Given the description of an element on the screen output the (x, y) to click on. 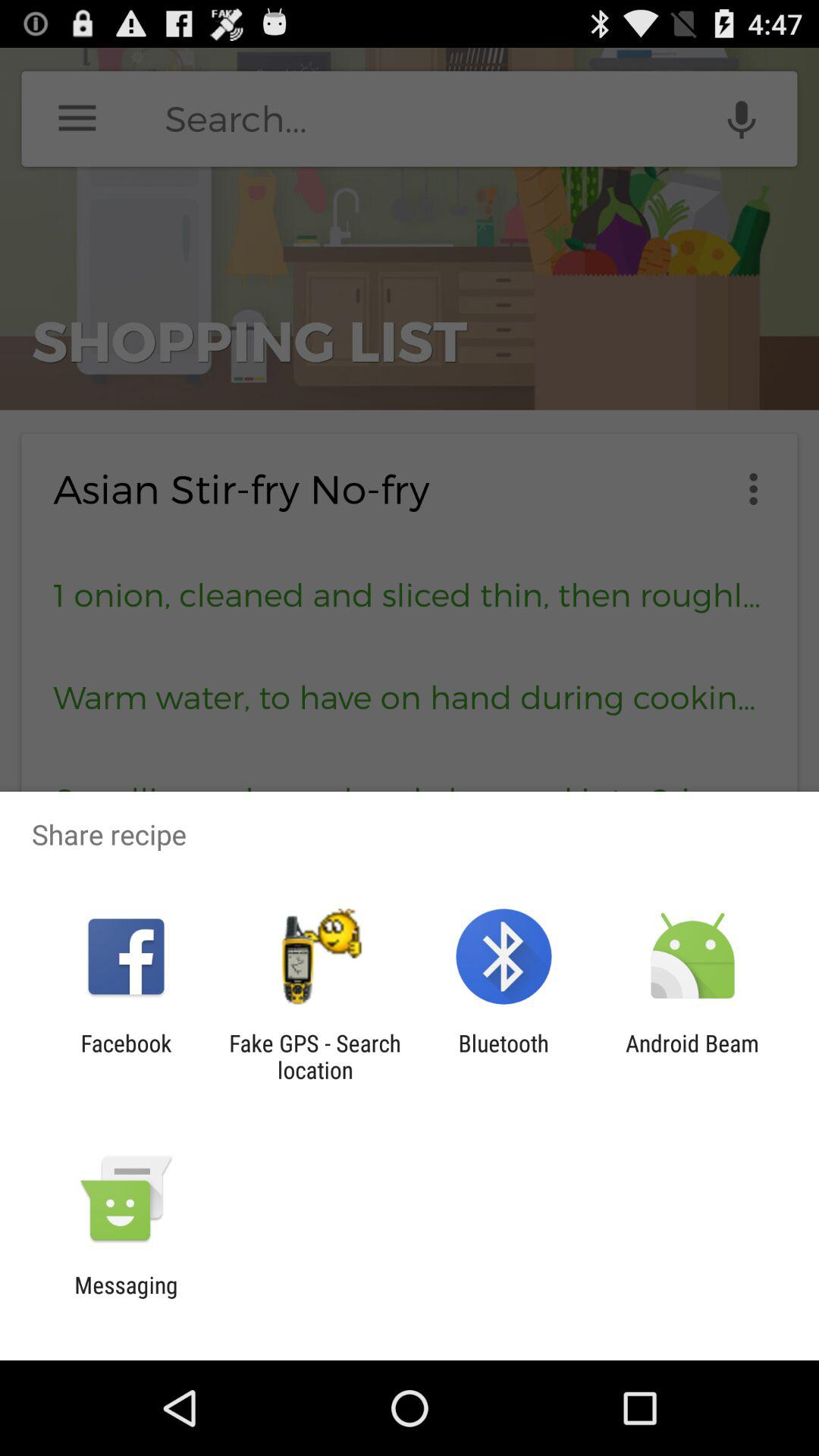
select the app to the right of the facebook app (314, 1056)
